Given the description of an element on the screen output the (x, y) to click on. 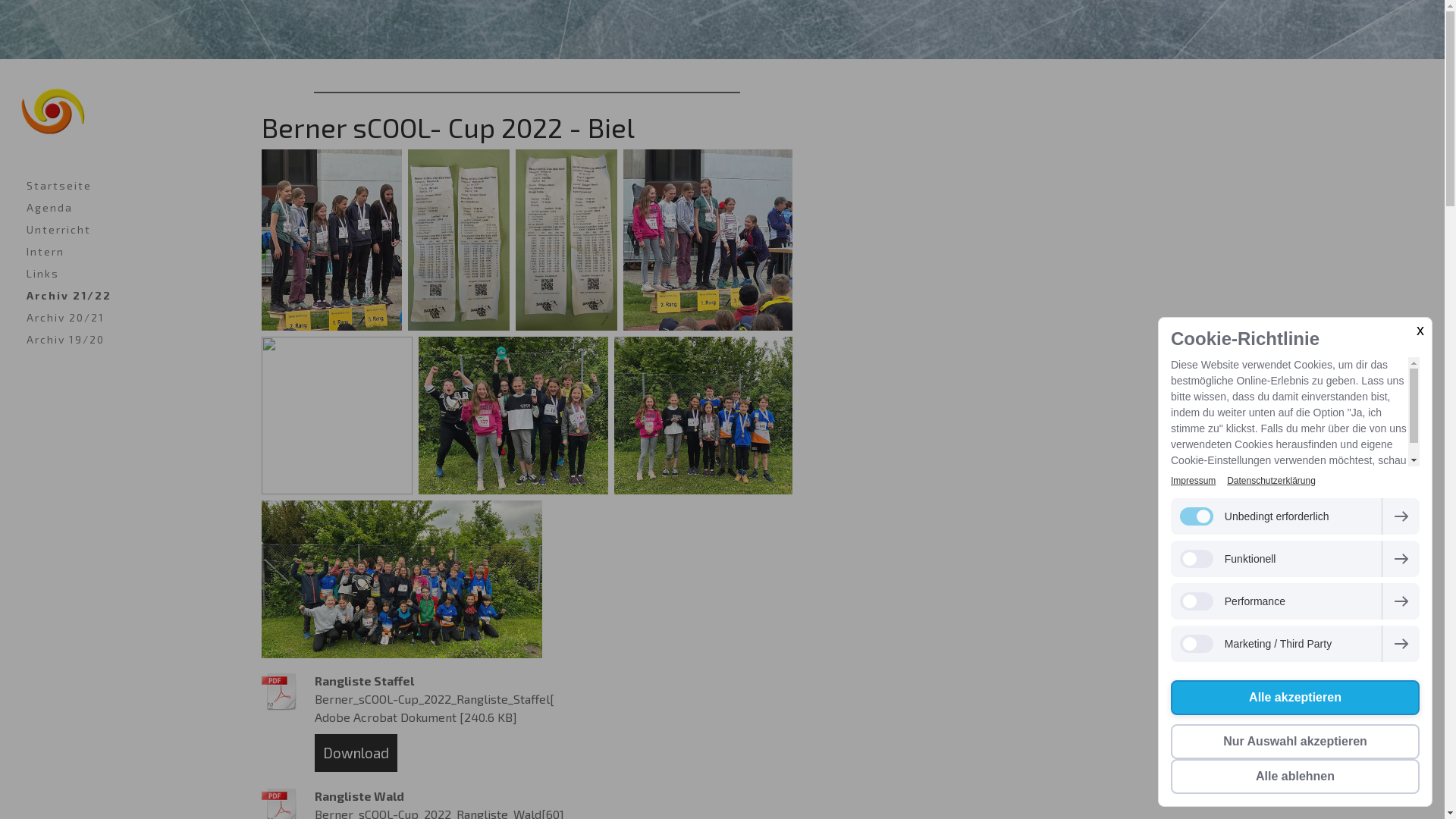
Archiv 20/21 Element type: text (113, 317)
Archiv 19/20 Element type: text (113, 339)
Alle akzeptieren Element type: text (1294, 697)
Intern Element type: text (113, 251)
Links Element type: text (113, 273)
Startseite Element type: text (113, 185)
Alle ablehnen Element type: text (1294, 776)
Impressum Element type: text (1192, 480)
Unterricht Element type: text (113, 229)
Archiv 21/22 Element type: text (113, 295)
Agenda Element type: text (113, 207)
Download Element type: text (355, 753)
Nur Auswahl akzeptieren Element type: text (1294, 741)
